Given the description of an element on the screen output the (x, y) to click on. 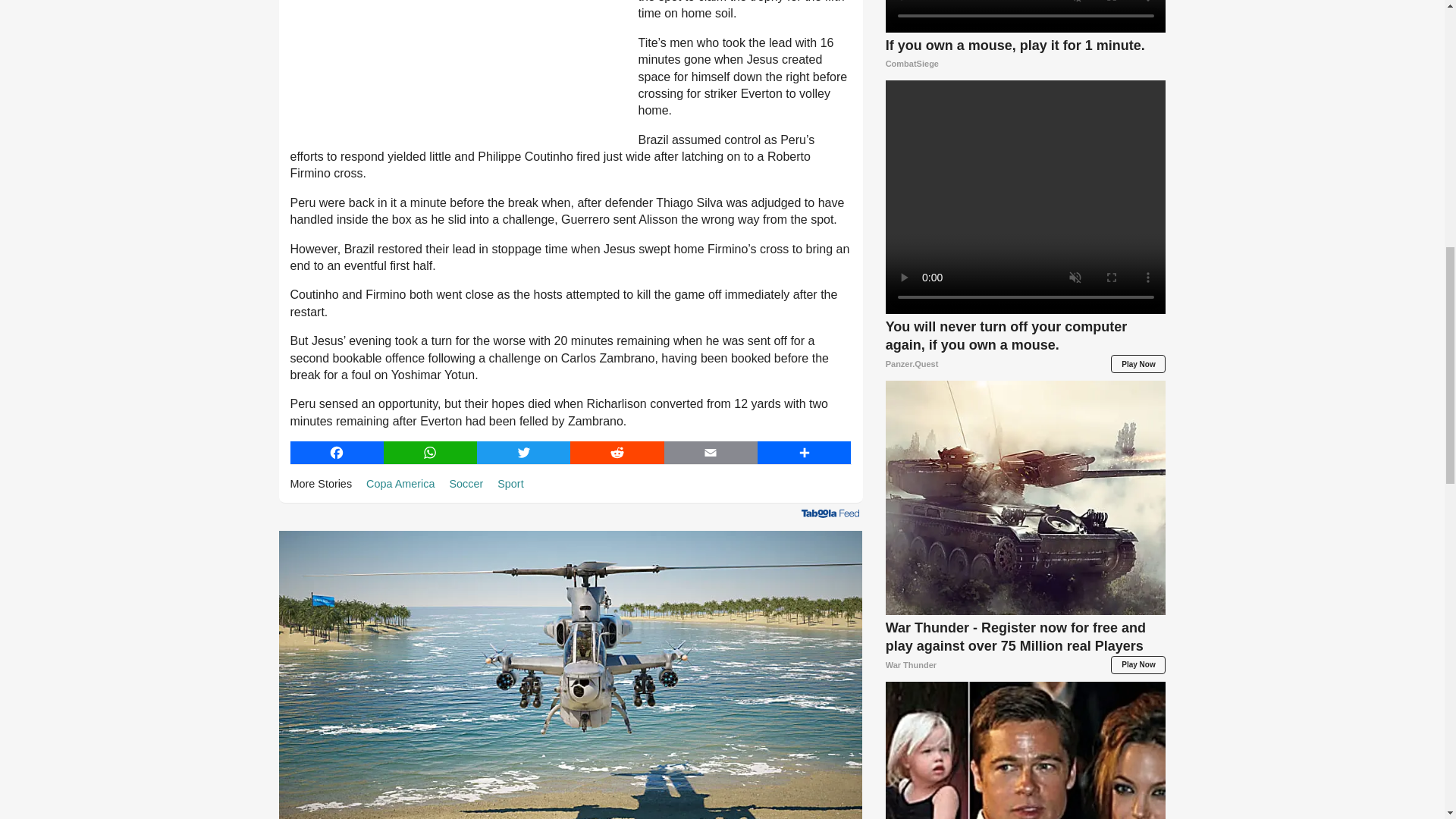
Facebook (335, 452)
Email (710, 452)
Copa America (399, 483)
Reddit (616, 452)
Sport (509, 483)
Twitter (523, 452)
Share (803, 452)
Soccer (465, 483)
WhatsApp (430, 452)
